Given the description of an element on the screen output the (x, y) to click on. 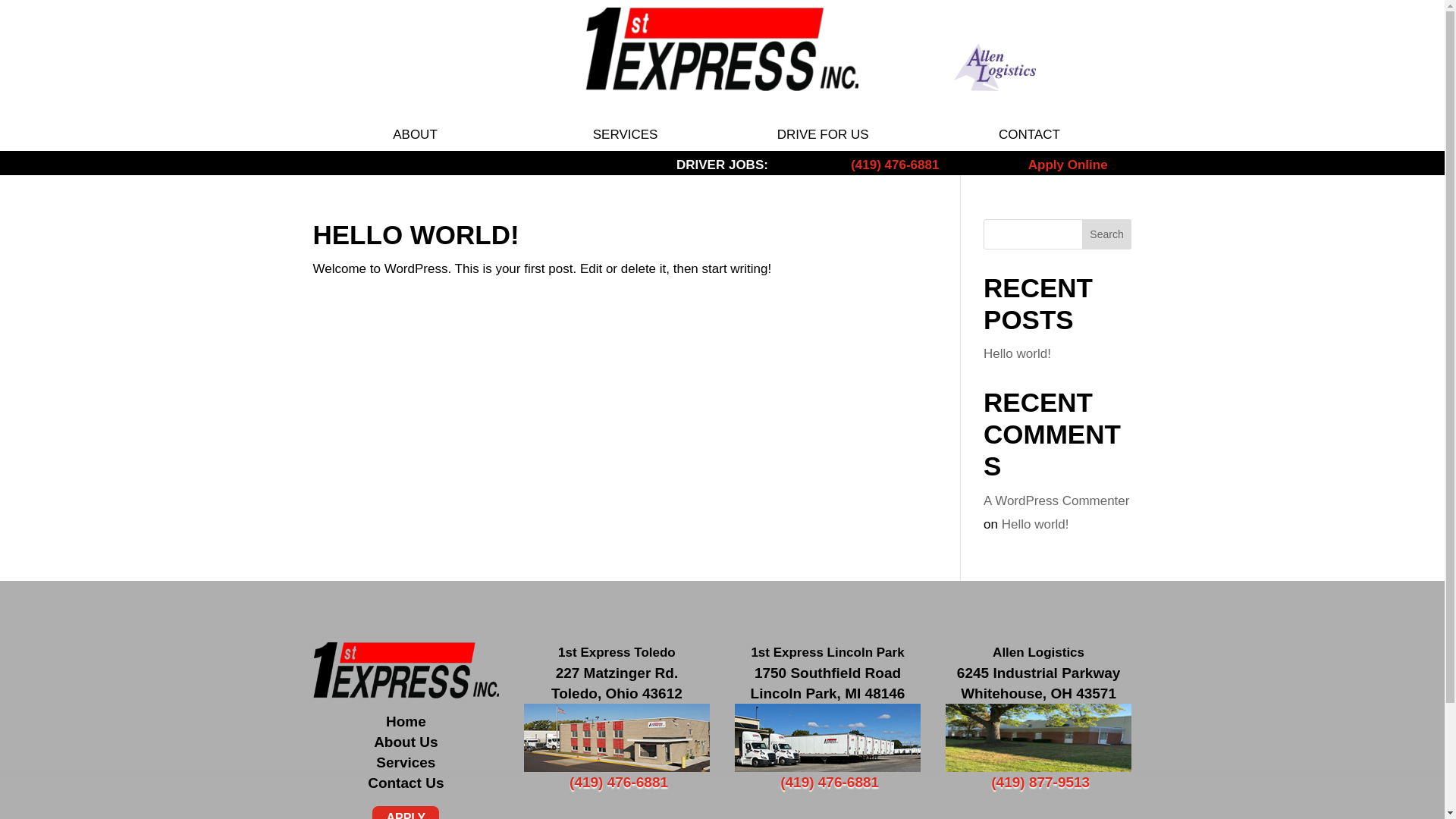
logo-rednblack Element type: hover (405, 670)
Search Element type: text (1107, 234)
Contact Us Element type: text (405, 782)
Allen Logo Element type: hover (994, 67)
A WordPress Commenter Element type: text (1056, 500)
DRIVE FOR US Element type: text (823, 134)
Hello world! Element type: text (1017, 353)
About Us Element type: text (405, 741)
Home Element type: text (405, 721)
Apply Online Element type: text (1067, 164)
IMG_7182 (1) Element type: hover (827, 737)
(419) 877-9513 Element type: text (1040, 782)
CONTACT Element type: text (1029, 134)
(419) 476-6881 Element type: text (618, 782)
admin-ajax Element type: hover (1038, 737)
SERVICES Element type: text (625, 134)
ABOUT Element type: text (414, 134)
Services Element type: text (405, 762)
1st Express-B Element type: hover (617, 737)
HELLO WORLD! Element type: text (415, 234)
(419) 476-6881 Element type: text (894, 164)
logo-rednblack Element type: hover (721, 49)
Hello world! Element type: text (1035, 524)
(419) 476-6881 Element type: text (829, 782)
